Given the description of an element on the screen output the (x, y) to click on. 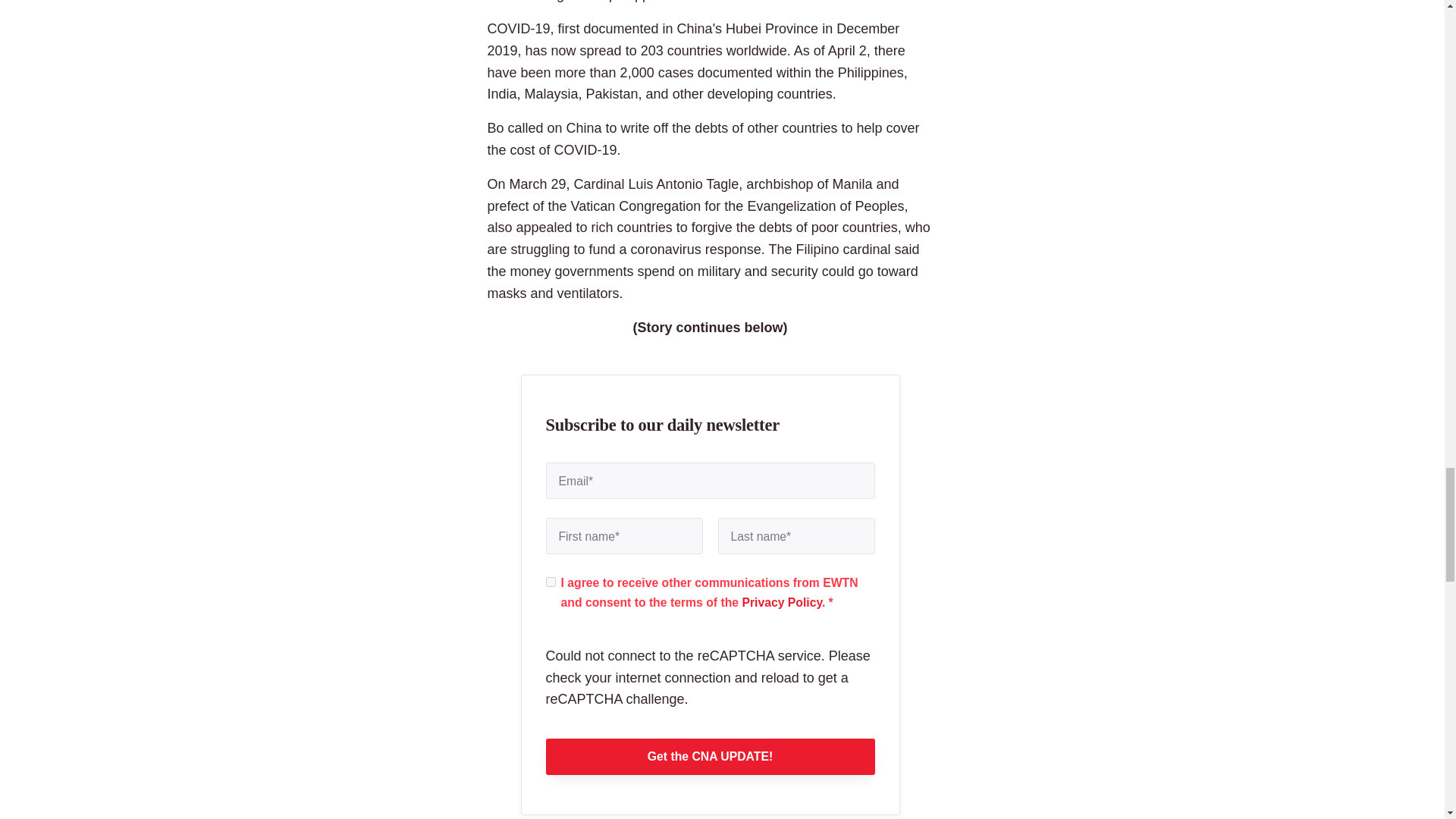
Get the CNA UPDATE! (710, 756)
true (551, 582)
